Given the description of an element on the screen output the (x, y) to click on. 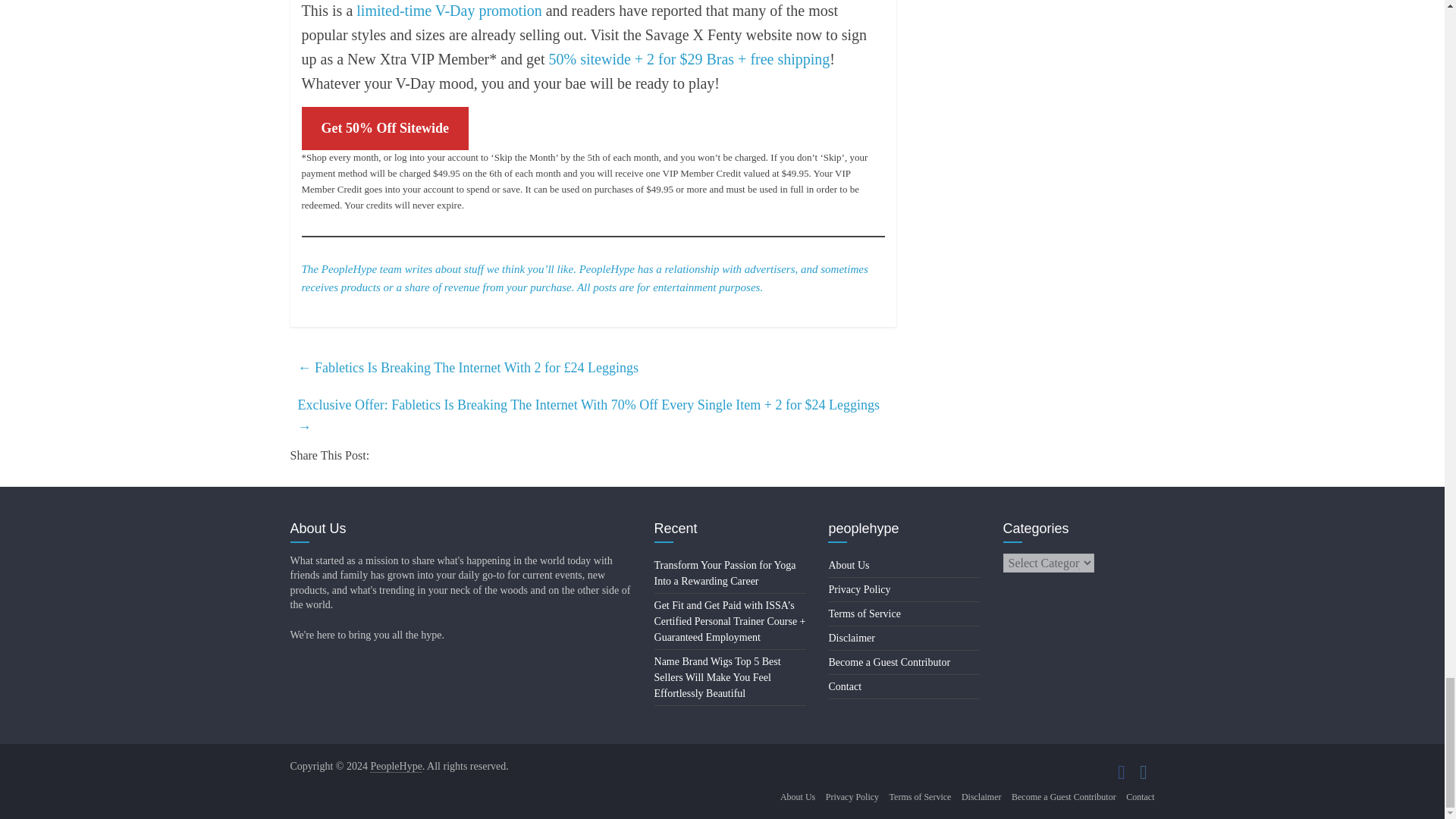
limited-time V-Day promotion (448, 10)
